Given the description of an element on the screen output the (x, y) to click on. 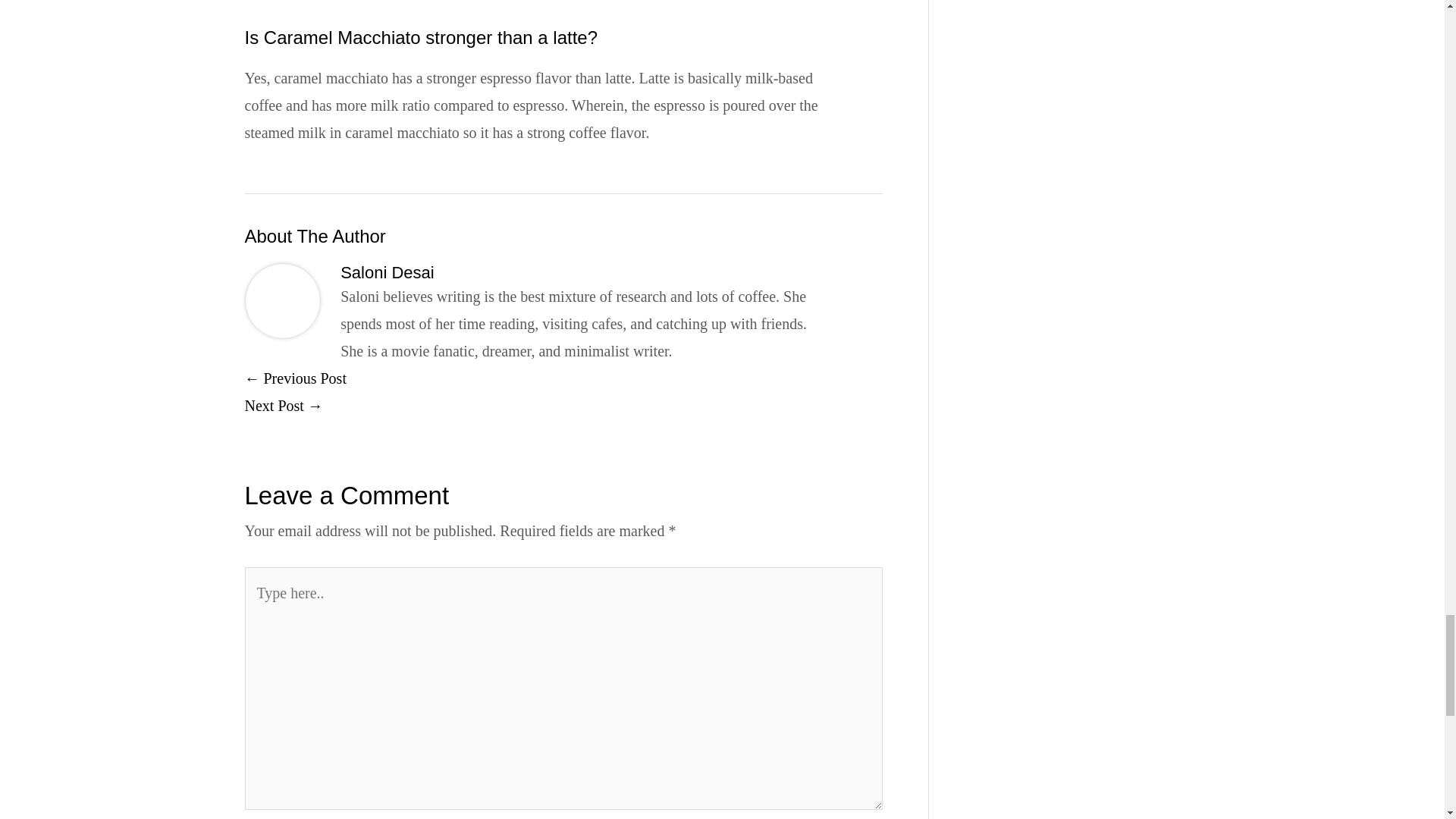
Does McDonald's Have Soup On Their Menu? (282, 405)
